Given the description of an element on the screen output the (x, y) to click on. 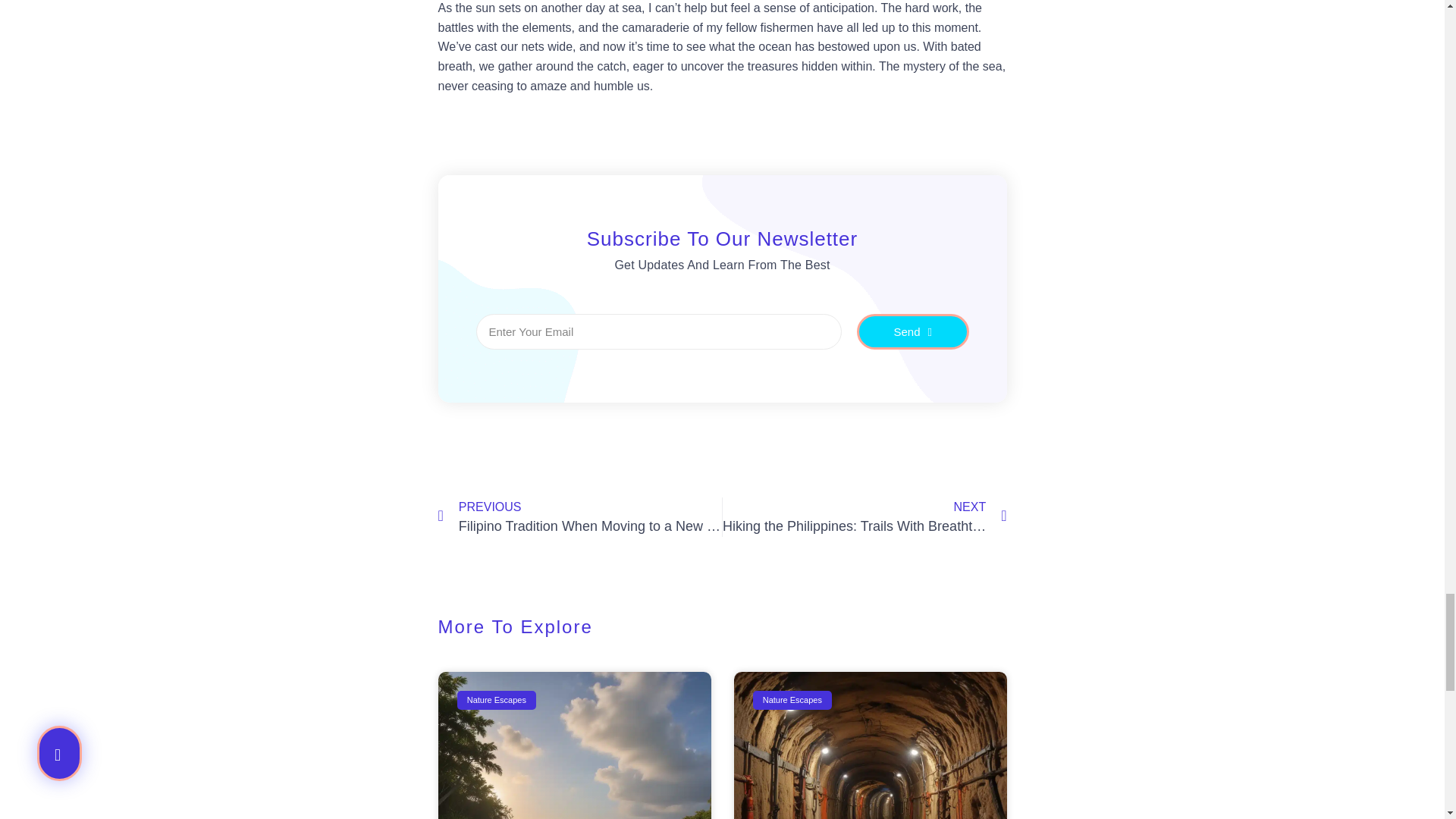
Stand Up Paddle Untouched Shores (574, 745)
Send (913, 331)
Discover the Wonders of the Underground (864, 517)
